Given the description of an element on the screen output the (x, y) to click on. 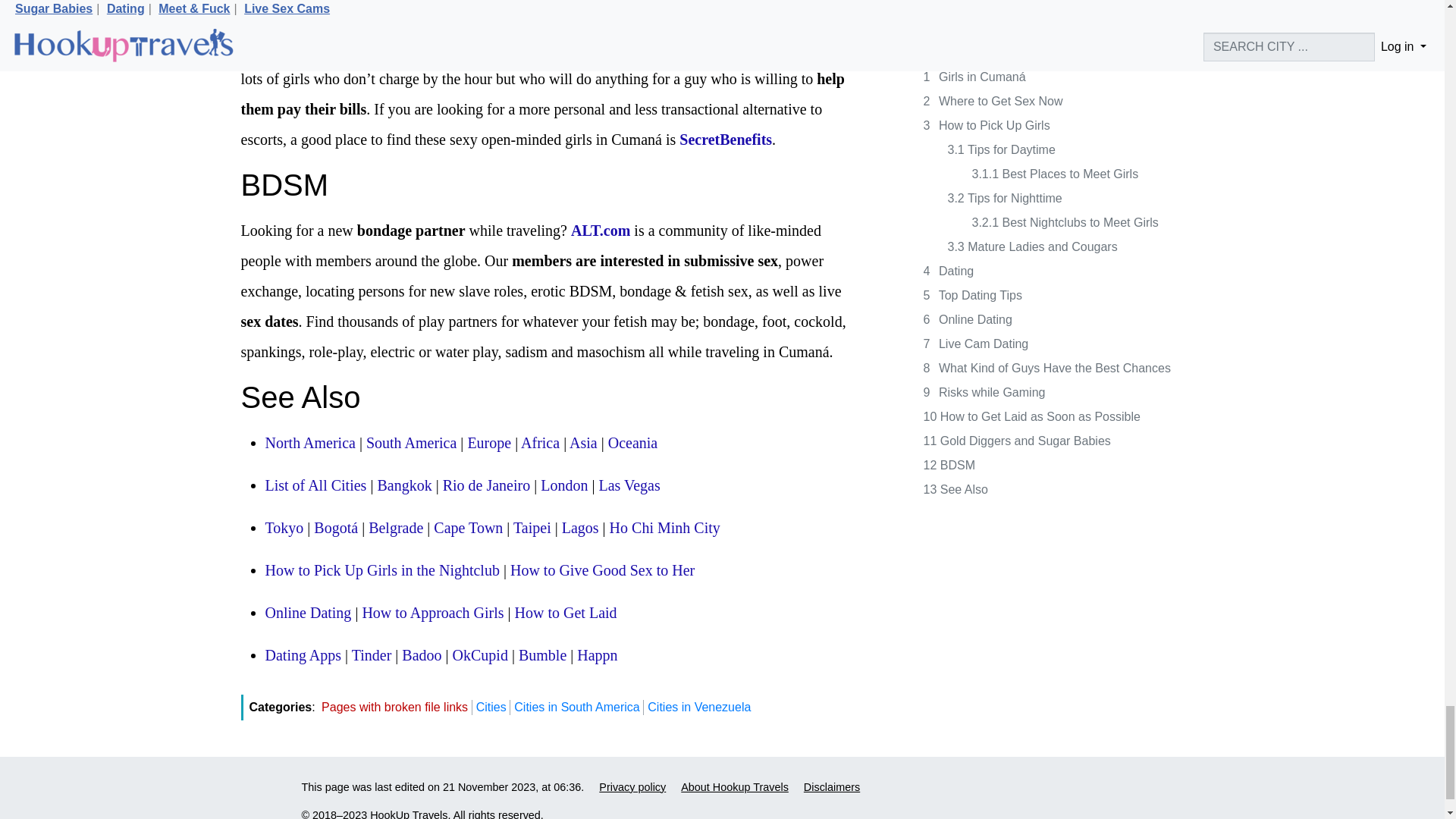
North America (309, 442)
Europe (489, 442)
ALT.com (600, 230)
Europe (489, 442)
London (564, 484)
Las Vegas (628, 484)
Rio de Janeiro (486, 484)
Asia (582, 442)
Belgrade (395, 527)
Category:Cities (315, 484)
SecretBenefits (725, 139)
North America (309, 442)
South America (411, 442)
Africa (540, 442)
Bangkok (403, 484)
